Given the description of an element on the screen output the (x, y) to click on. 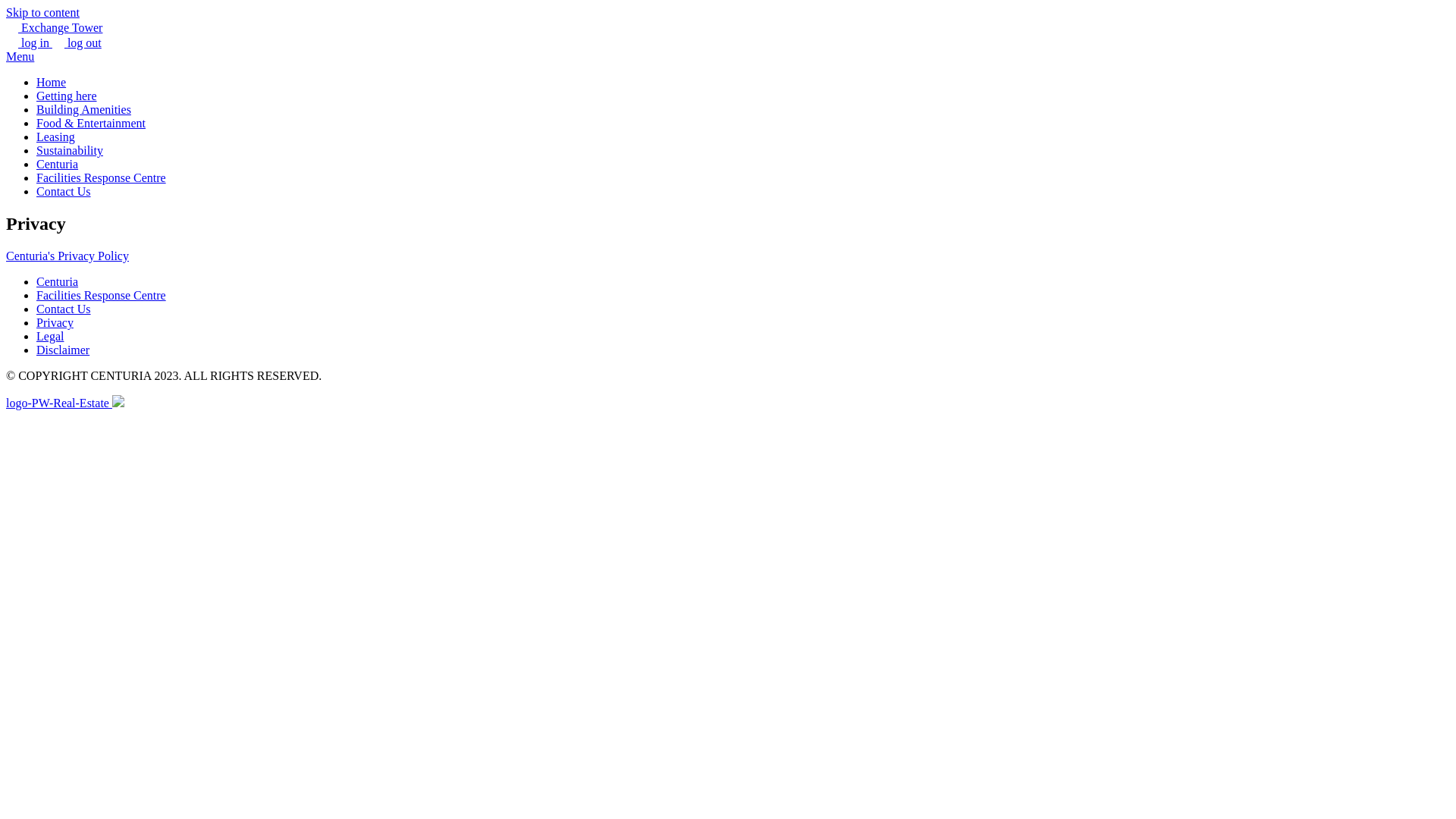
Food & Entertainment Element type: text (90, 122)
log out Element type: text (76, 42)
Legal Element type: text (49, 335)
Contact Us Element type: text (63, 308)
Centuria Element type: text (57, 163)
Centuria Element type: text (57, 281)
Leasing Element type: text (55, 136)
Disclaimer Element type: text (62, 349)
Facilities Response Centre Element type: text (101, 177)
Skip to content Element type: text (42, 12)
Home Element type: text (50, 81)
log in Element type: text (29, 42)
Menu Element type: text (20, 56)
Getting here Element type: text (66, 95)
logo-PW-Real-Estate Element type: text (65, 402)
Exchange Tower Element type: text (54, 27)
Facilities Response Centre Element type: text (101, 294)
Privacy Element type: text (54, 322)
Sustainability Element type: text (69, 150)
Contact Us Element type: text (63, 191)
Building Amenities Element type: text (83, 109)
Centuria's Privacy Policy Element type: text (67, 255)
